Given the description of an element on the screen output the (x, y) to click on. 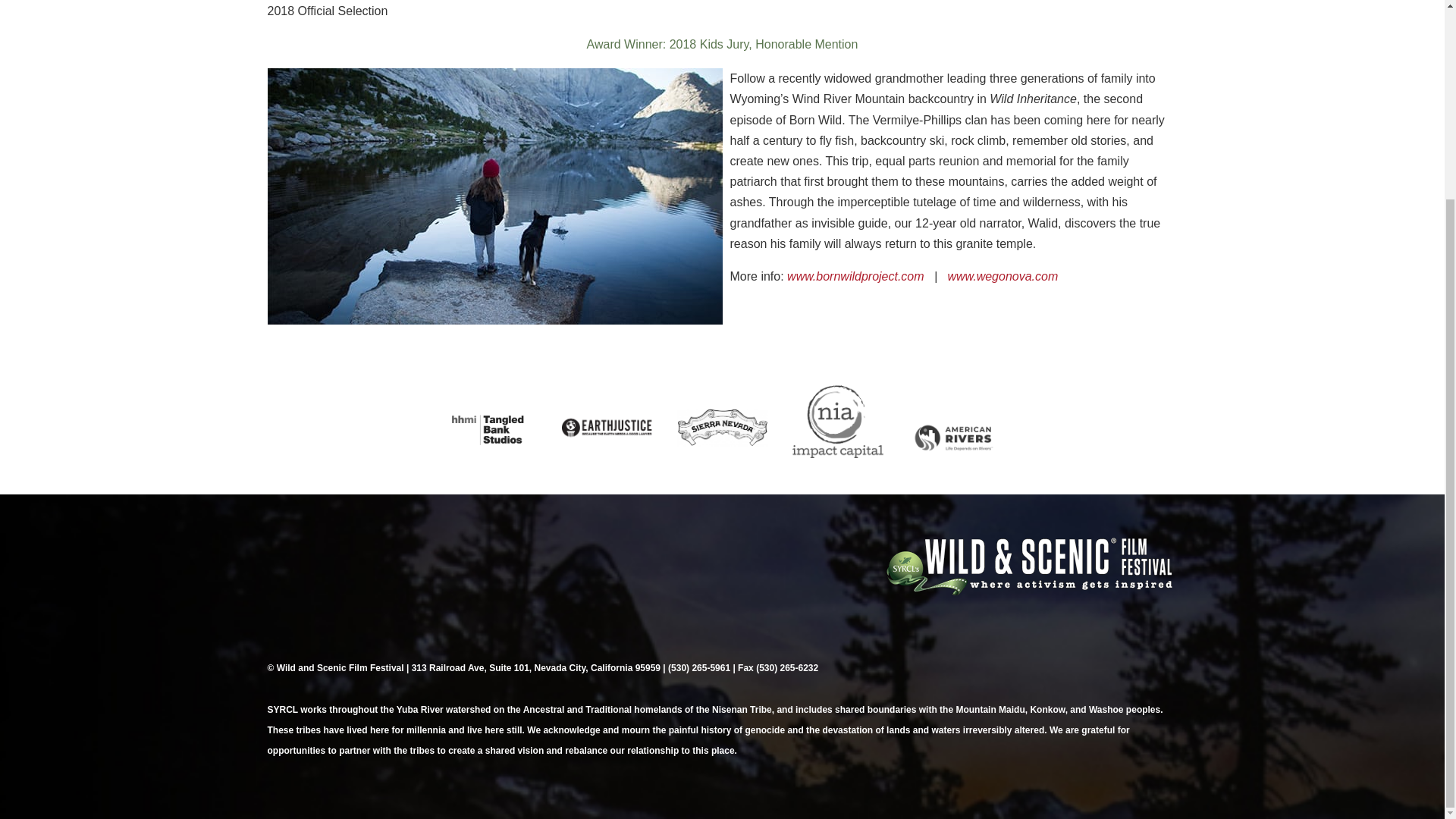
www.bornwildproject.com (854, 276)
www.wegonova.com (1002, 276)
